Given the description of an element on the screen output the (x, y) to click on. 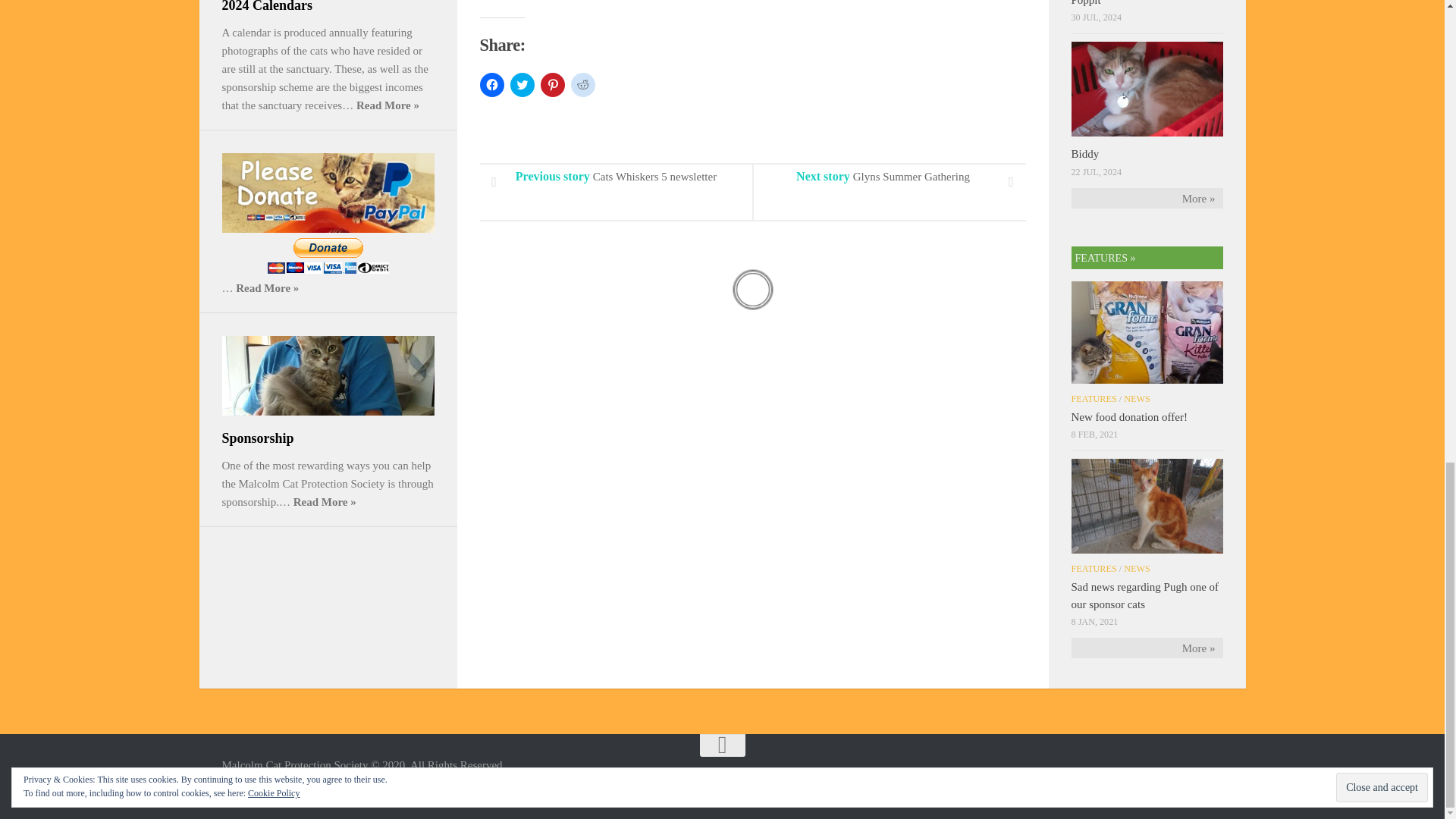
Click to share on Pinterest (552, 84)
Click to share on Reddit (582, 84)
Click to share on Facebook (491, 84)
Click to share on Twitter (521, 84)
